Given the description of an element on the screen output the (x, y) to click on. 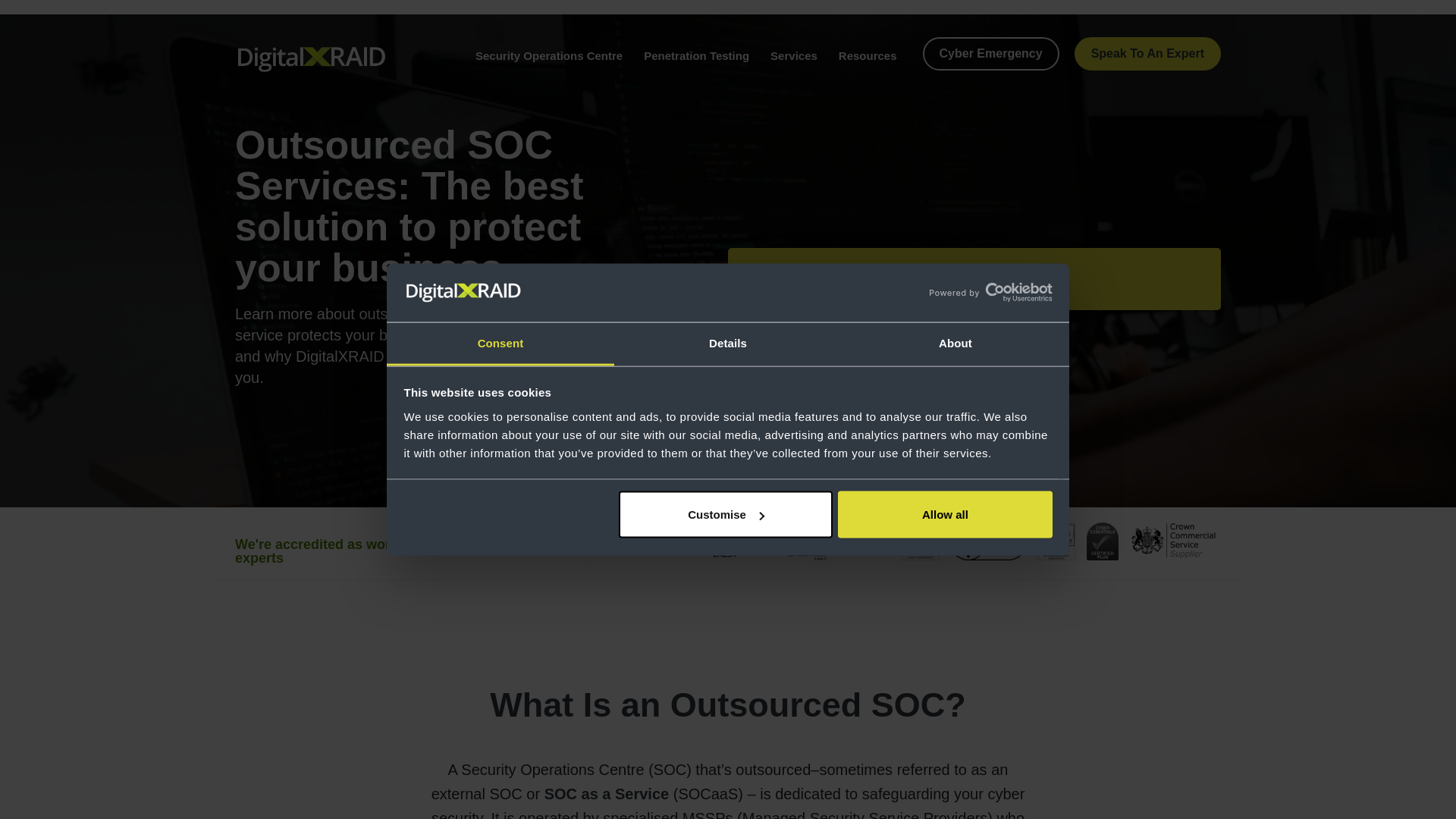
About (954, 343)
Consent (500, 343)
Details (727, 343)
